Given the description of an element on the screen output the (x, y) to click on. 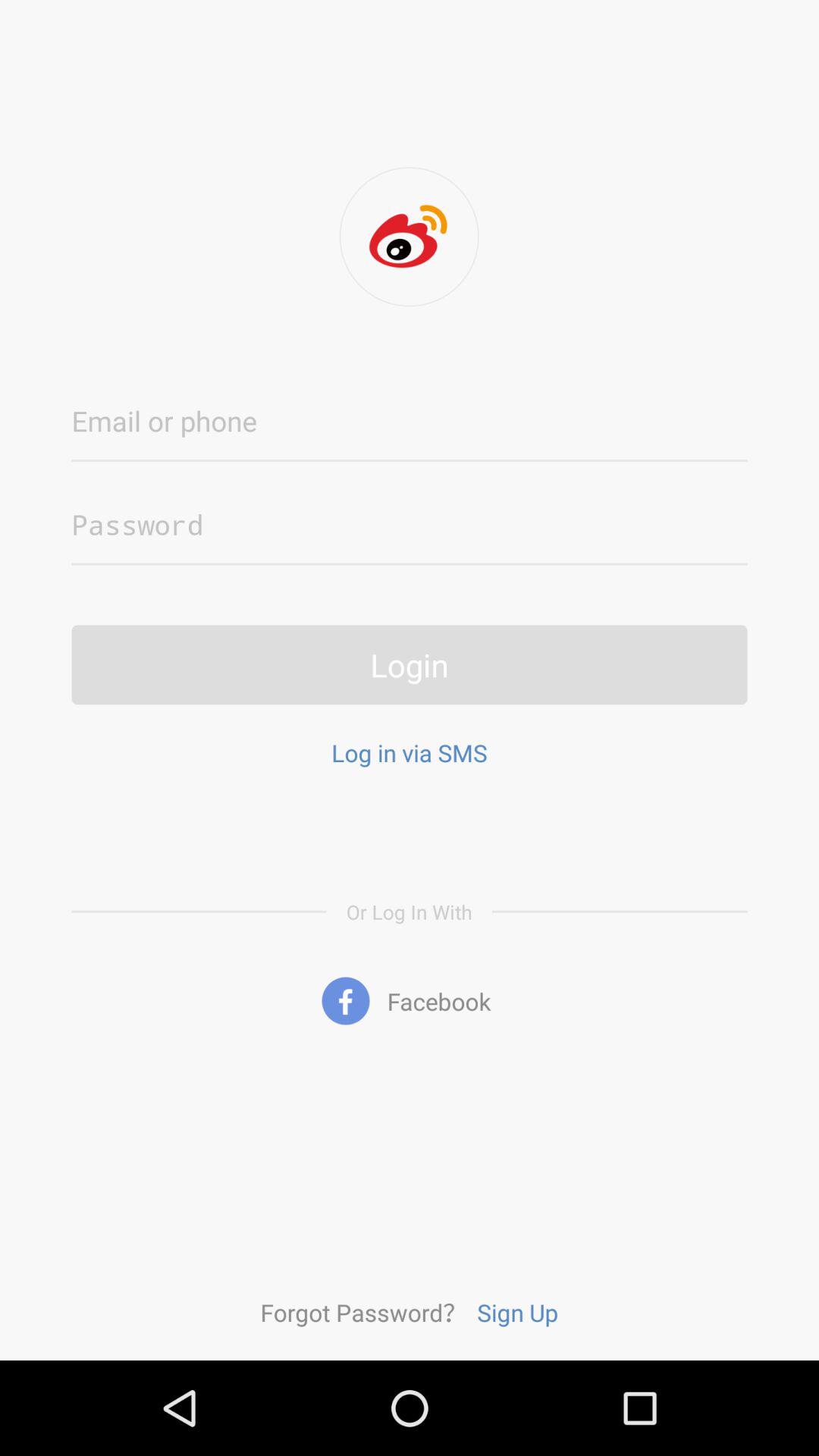
select item below the facebook icon (363, 1312)
